Given the description of an element on the screen output the (x, y) to click on. 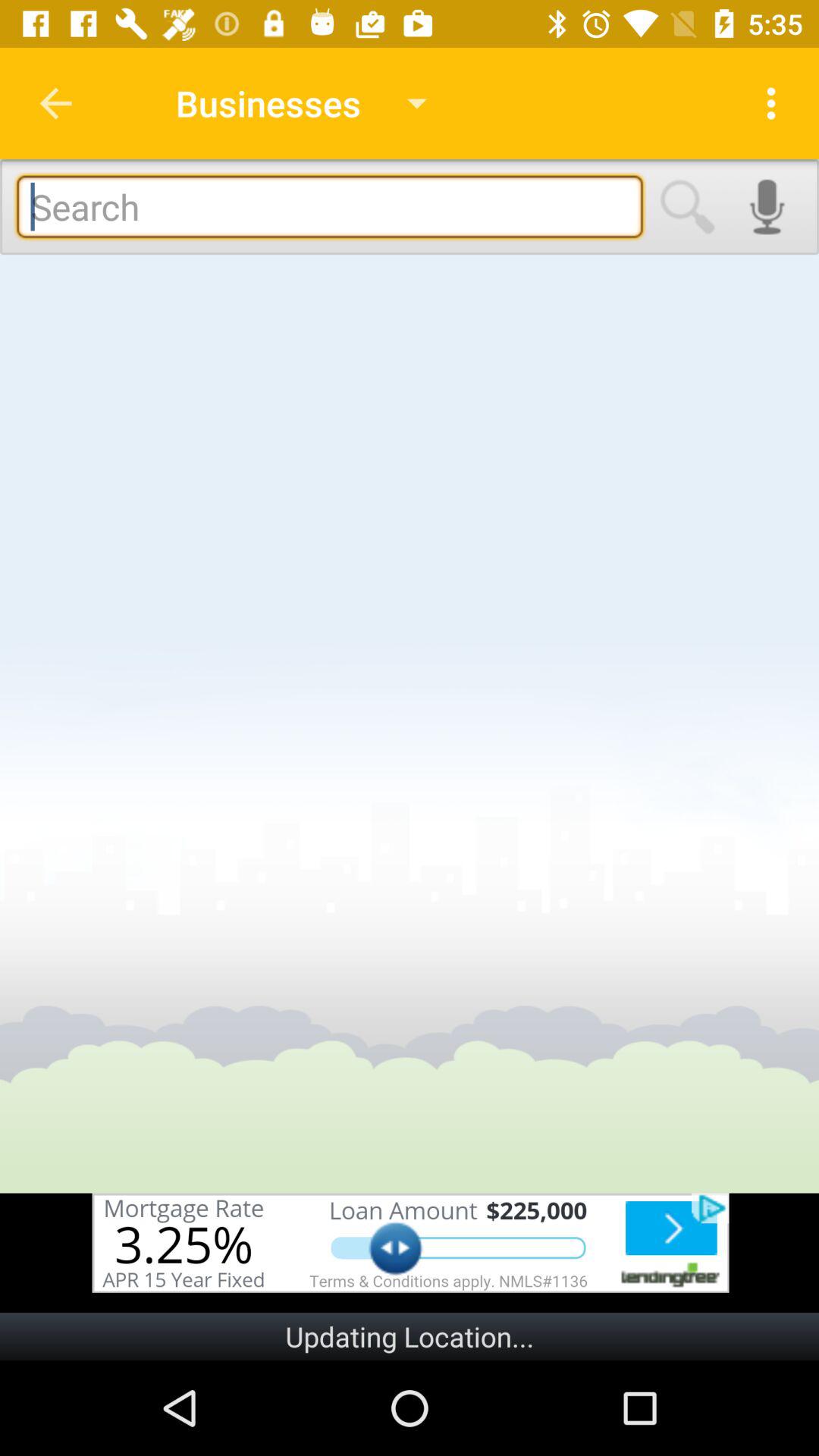
record voice (767, 206)
